Given the description of an element on the screen output the (x, y) to click on. 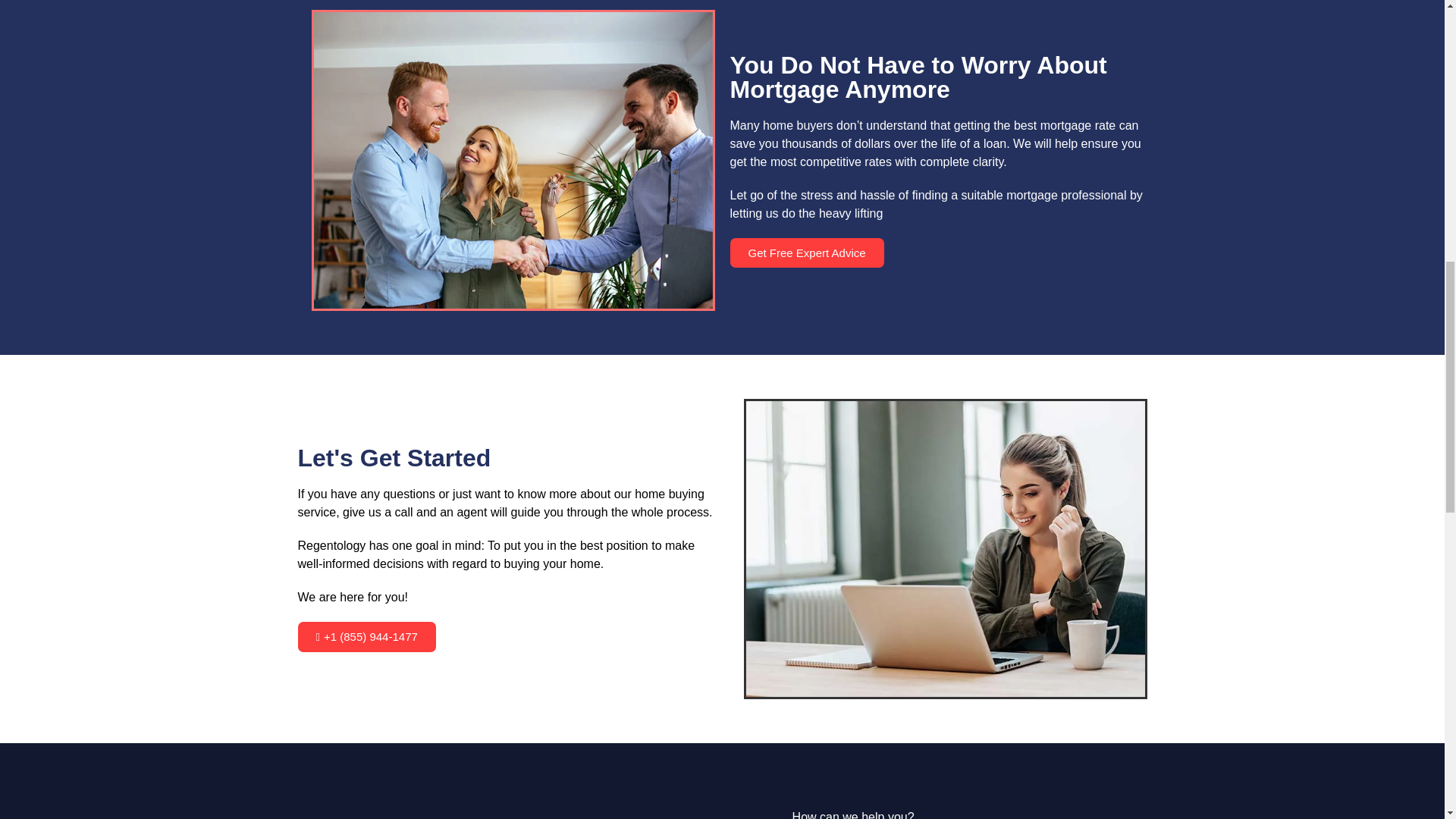
Get Free Expert Advice (806, 252)
